Given the description of an element on the screen output the (x, y) to click on. 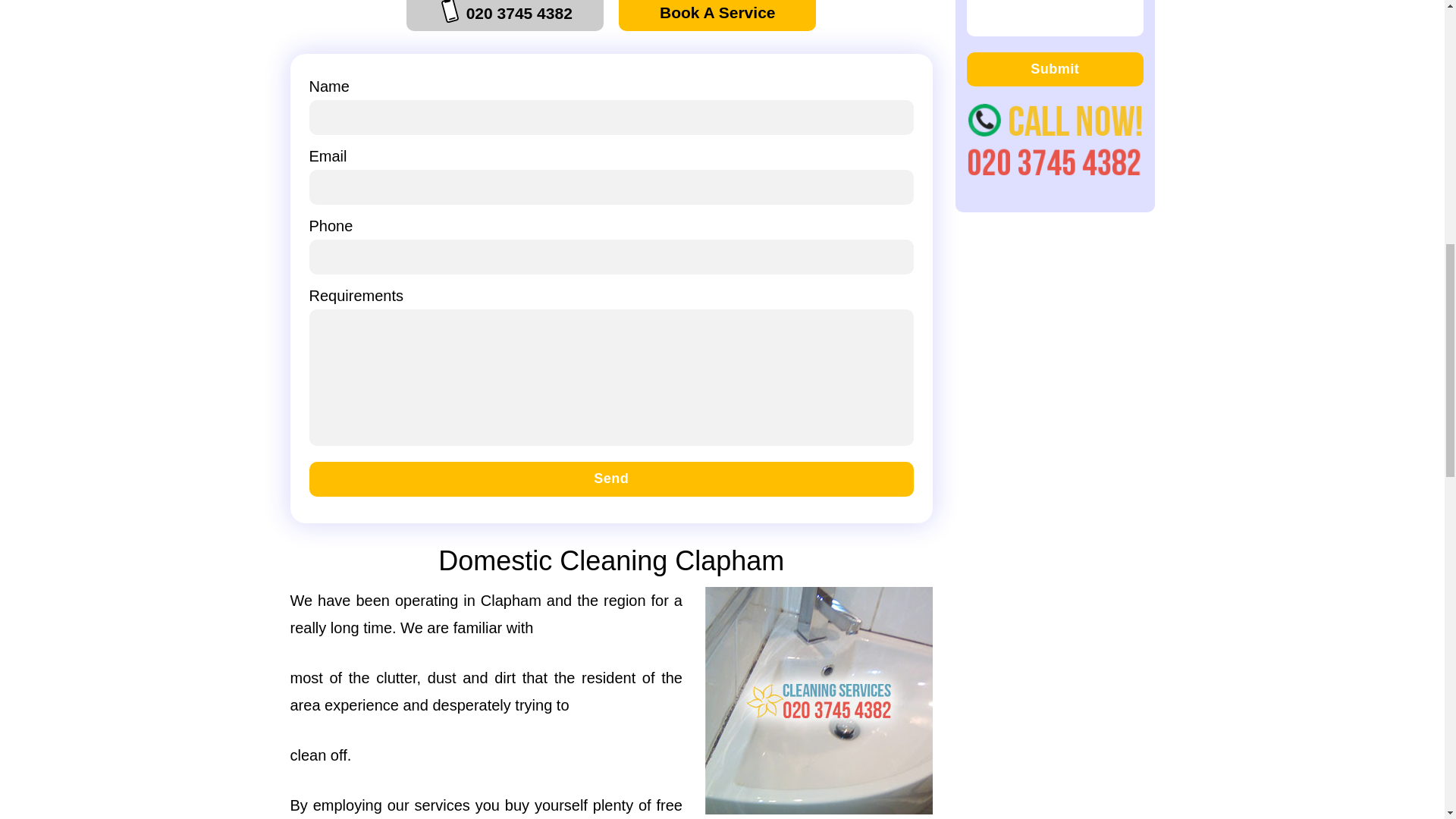
Submit (1054, 69)
Submit (1054, 69)
Send (611, 478)
020 3745 4382 (505, 15)
Book A Service (716, 15)
Send (611, 478)
